Given the description of an element on the screen output the (x, y) to click on. 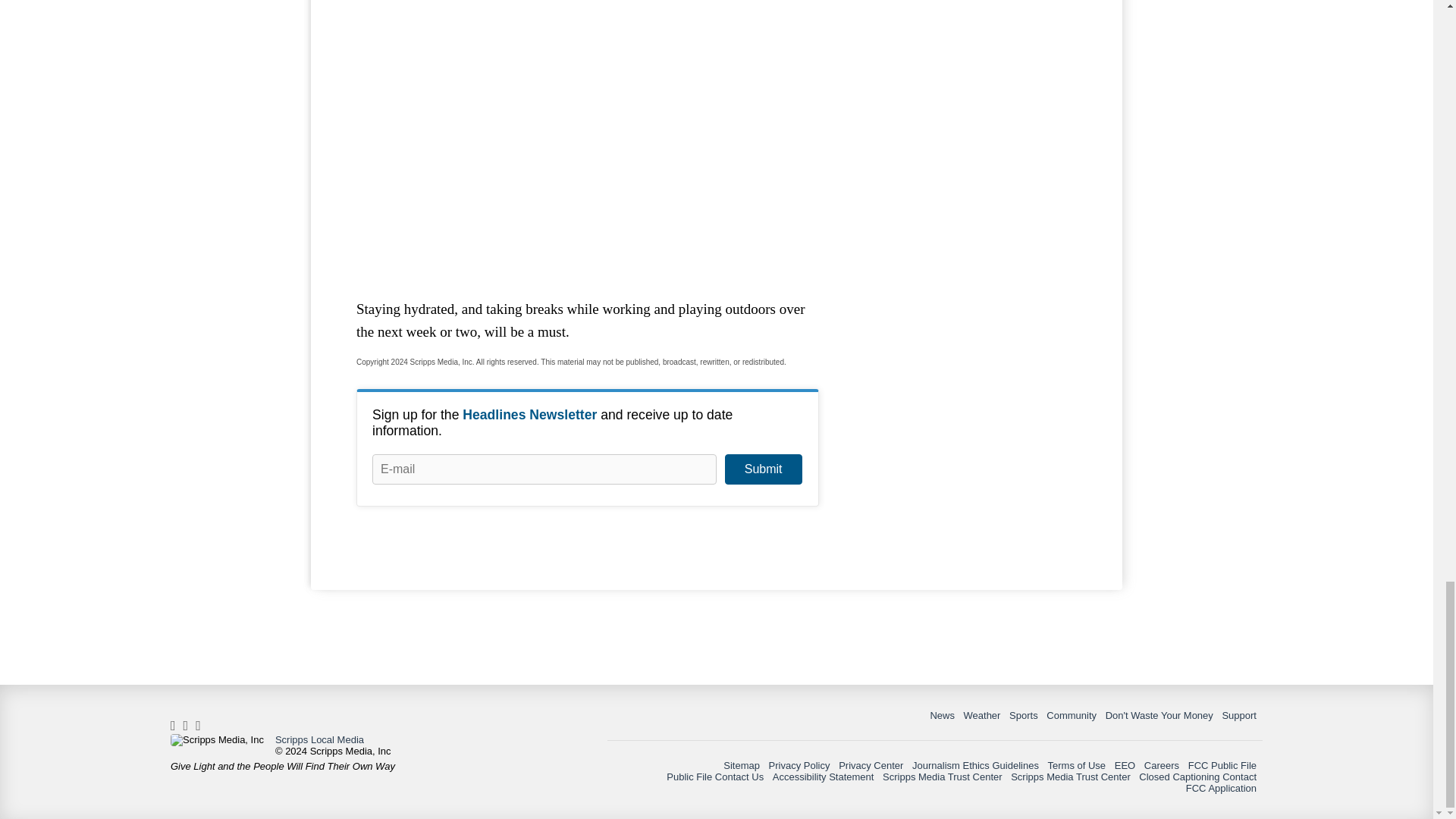
Submit (763, 469)
